Given the description of an element on the screen output the (x, y) to click on. 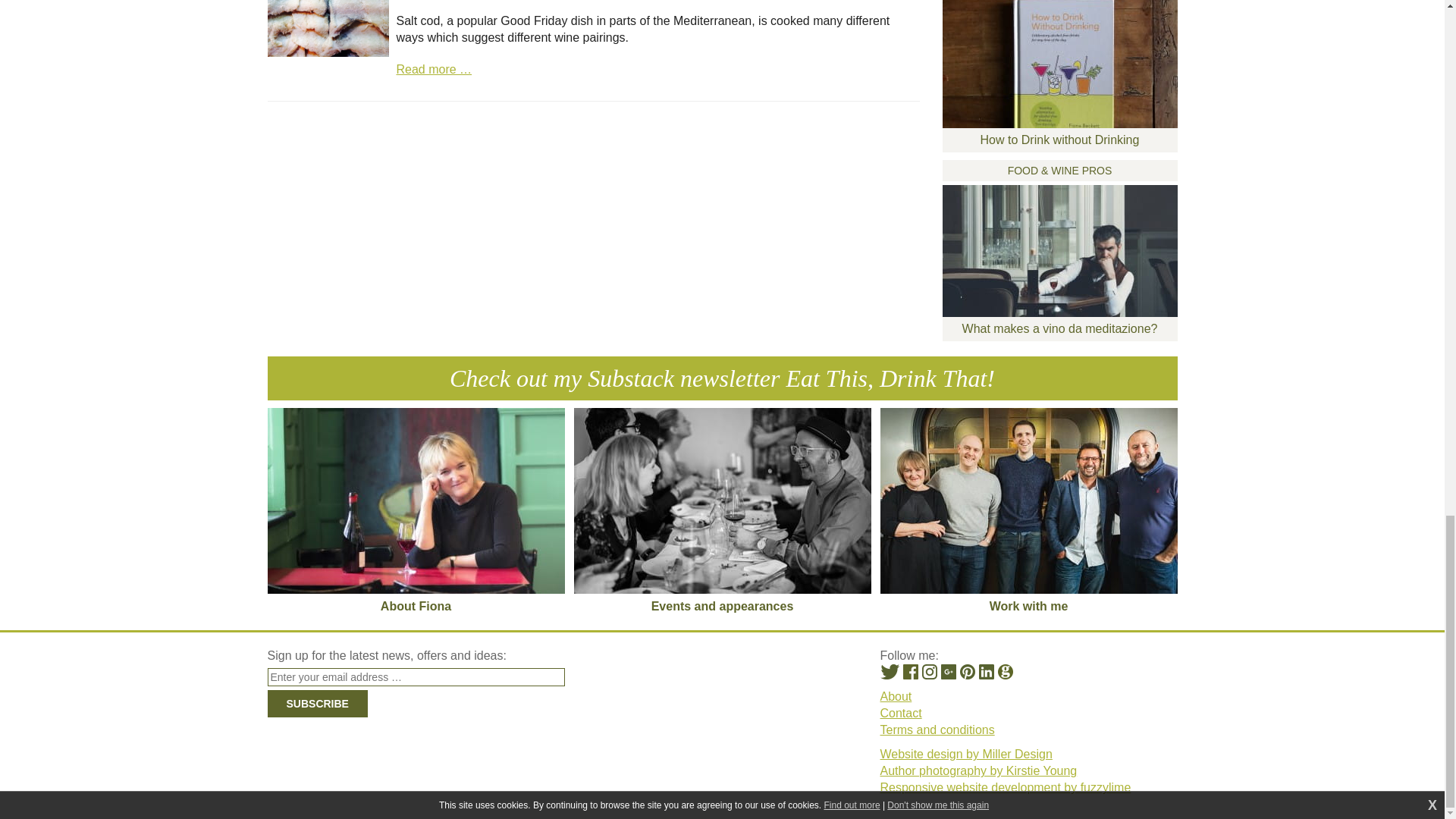
Subscribe (316, 703)
